Given the description of an element on the screen output the (x, y) to click on. 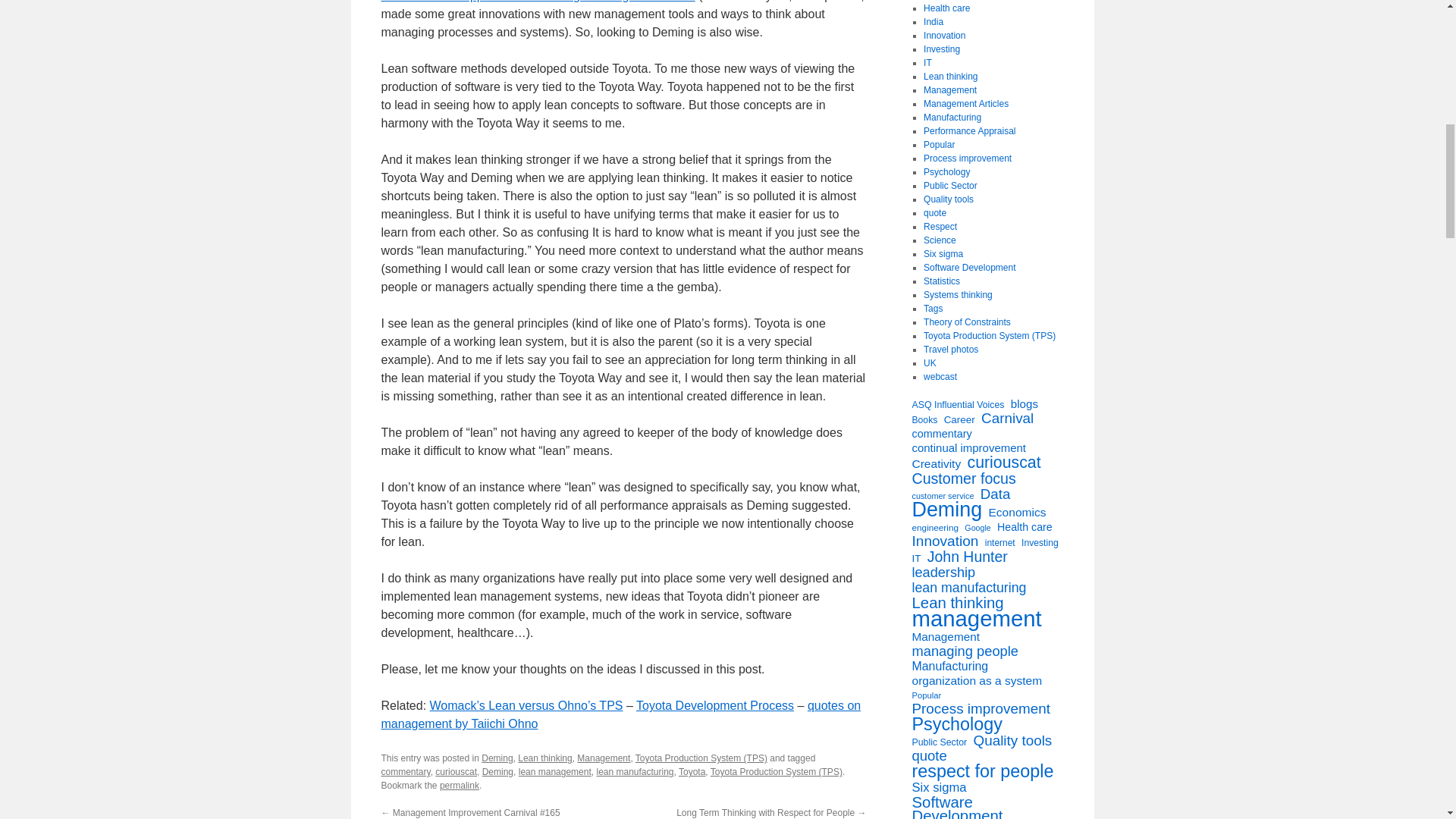
Deming (496, 757)
Management (603, 757)
Lean thinking (545, 757)
Toyota (691, 771)
commentary (404, 771)
curiouscat (456, 771)
Toyota Development Process (714, 705)
lean manufacturing (633, 771)
lean management (554, 771)
quotes on management by Taiichi Ohno (620, 714)
Deming (497, 771)
